Given the description of an element on the screen output the (x, y) to click on. 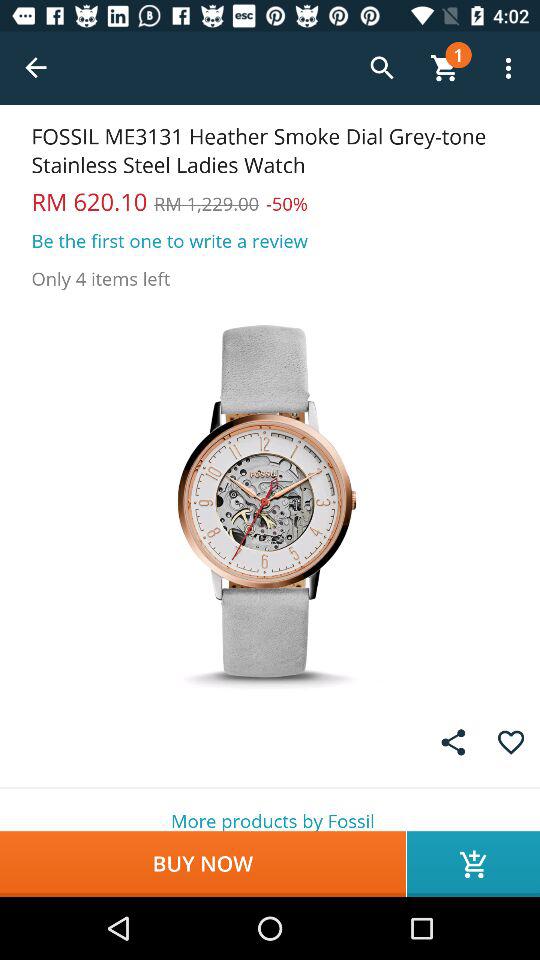
tap icon at the center (269, 500)
